Given the description of an element on the screen output the (x, y) to click on. 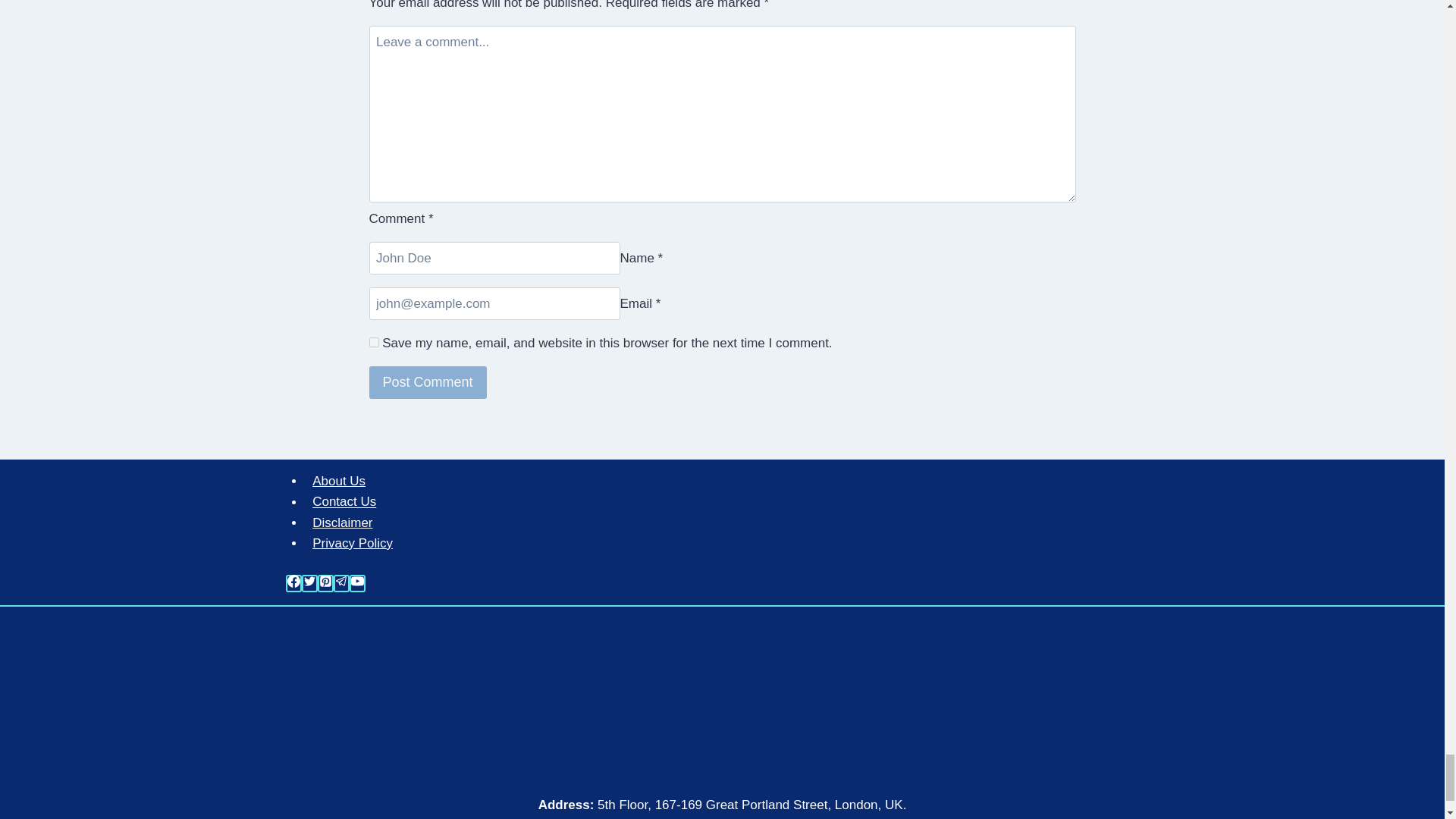
yes (373, 342)
Post Comment (427, 382)
